Given the description of an element on the screen output the (x, y) to click on. 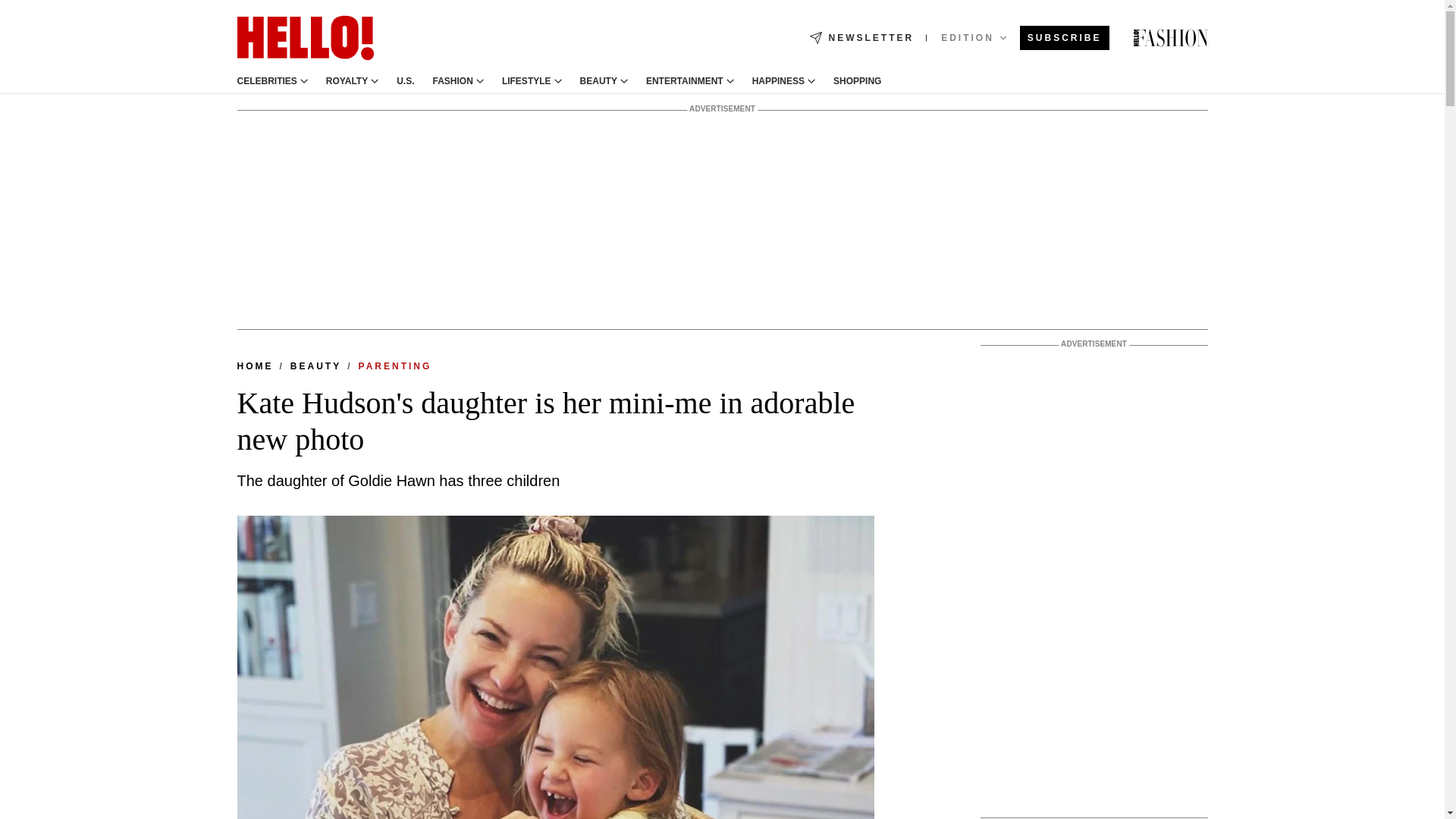
FASHION (452, 81)
U.S. (404, 81)
BEAUTY (598, 81)
CELEBRITIES (266, 81)
NEWSLETTER (861, 38)
ROYALTY (347, 81)
